Given the description of an element on the screen output the (x, y) to click on. 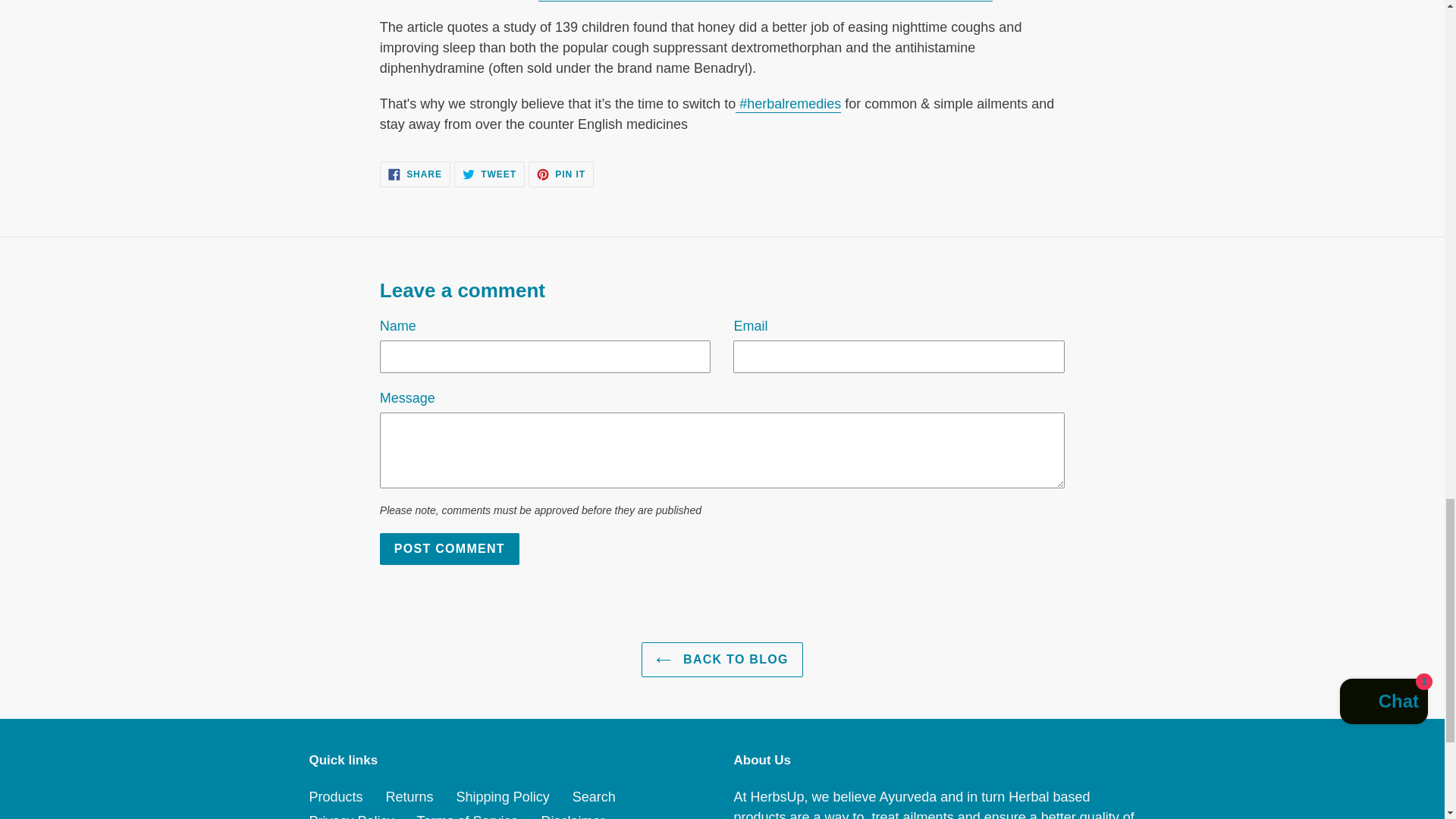
Post comment (449, 548)
